Given the description of an element on the screen output the (x, y) to click on. 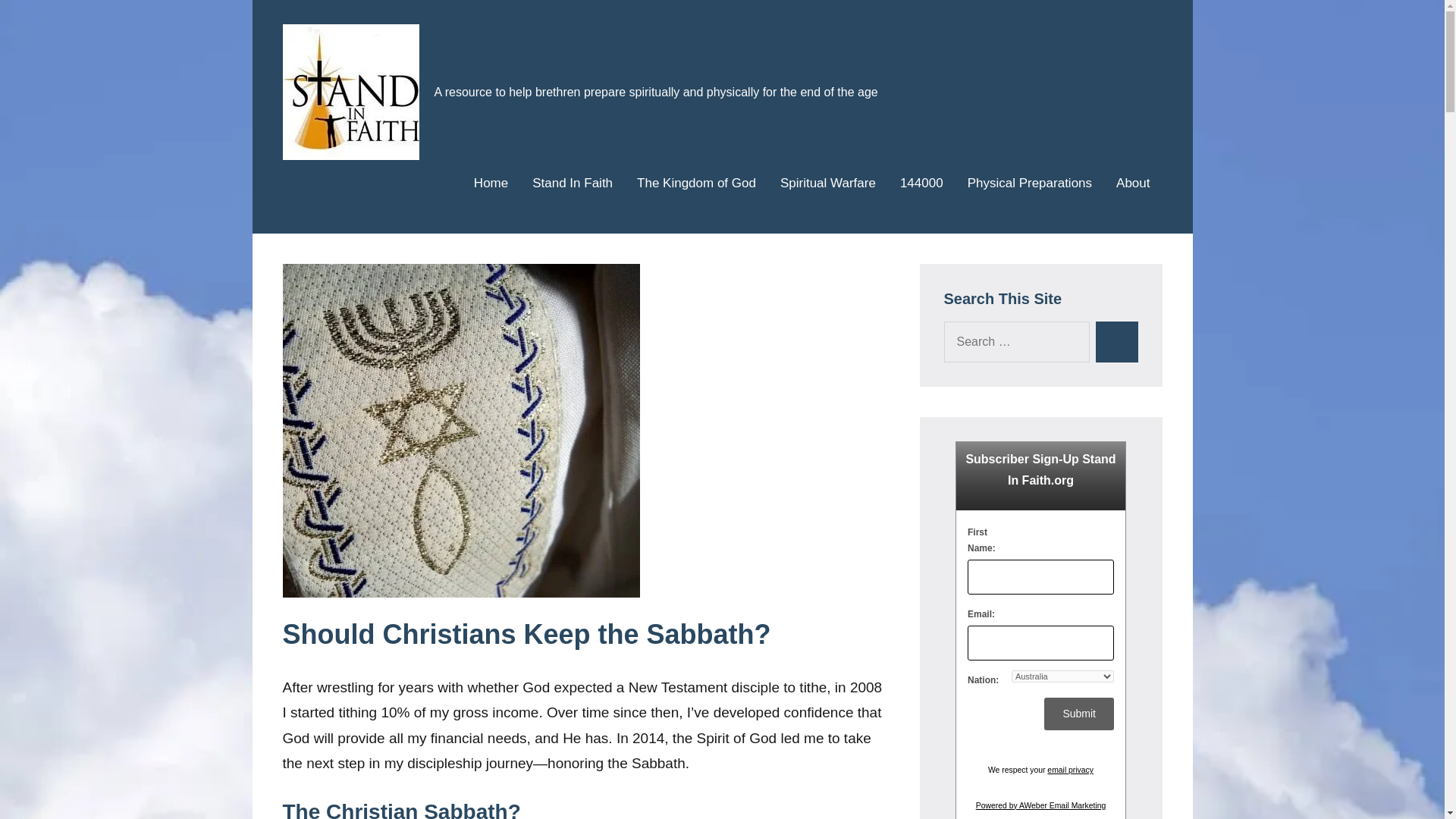
Submit (1078, 714)
Search (1115, 341)
Search for: (1016, 341)
The Kingdom of God (696, 184)
email privacy (1069, 769)
144000 (921, 184)
Home (491, 184)
Privacy Policy (1069, 769)
Submit (1078, 714)
Physical Preparations (1030, 184)
Powered by AWeber Email Marketing (1040, 805)
AWeber Email Marketing (1040, 805)
About (1133, 184)
Stand In Faith (572, 184)
Spiritual Warfare (828, 184)
